Given the description of an element on the screen output the (x, y) to click on. 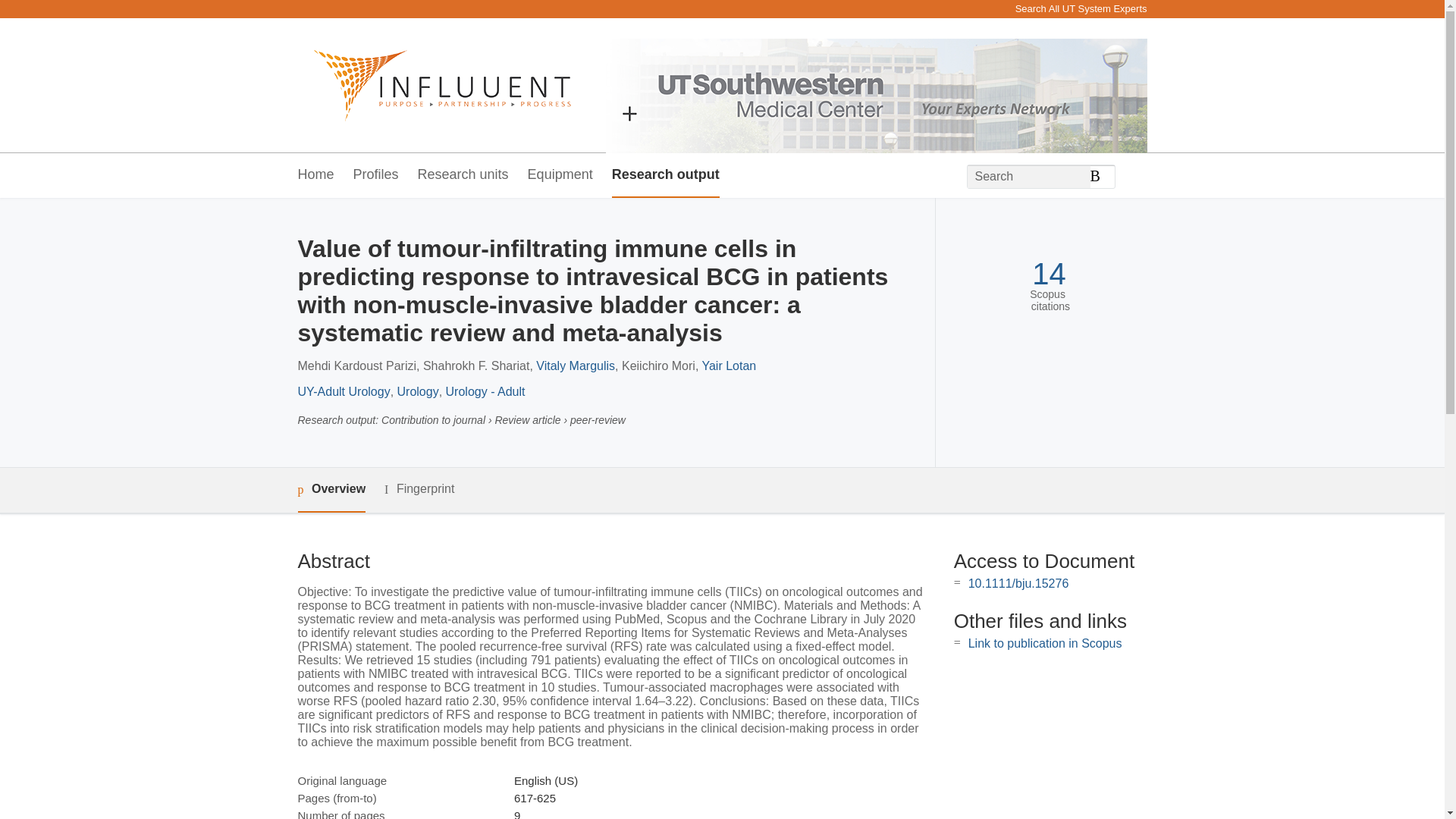
Research units (462, 175)
Urology - Adult (485, 391)
Home (315, 175)
Research output (665, 175)
Equipment (559, 175)
Yair Lotan (728, 365)
University of Texas Southwestern Medical Center Home (434, 85)
Vitaly Margulis (574, 365)
Link to publication in Scopus (1045, 643)
14 (1048, 274)
Profiles (375, 175)
Urology (418, 391)
UY-Adult Urology (343, 391)
Overview (331, 489)
